Given the description of an element on the screen output the (x, y) to click on. 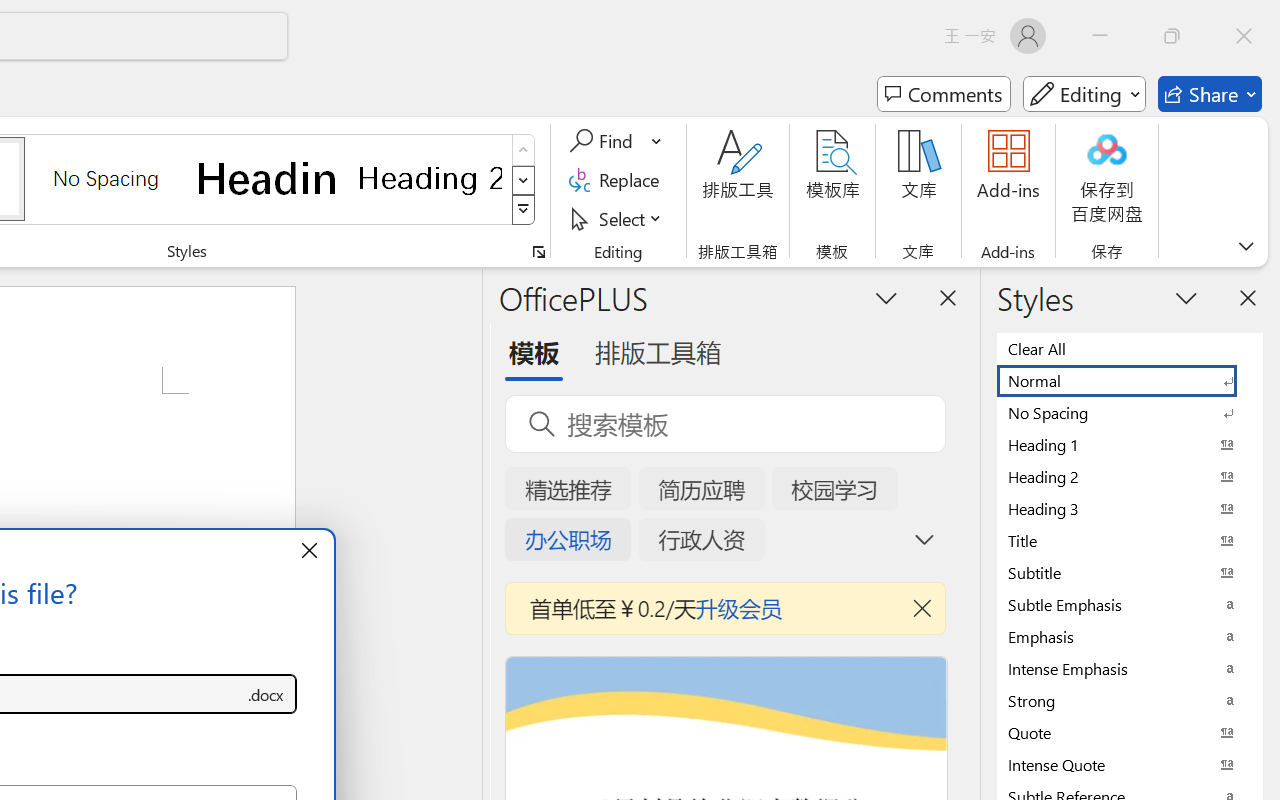
Comments (943, 94)
Select (618, 218)
Strong (1130, 700)
Clear All (1130, 348)
Row Down (523, 180)
Task Pane Options (886, 297)
